Given the description of an element on the screen output the (x, y) to click on. 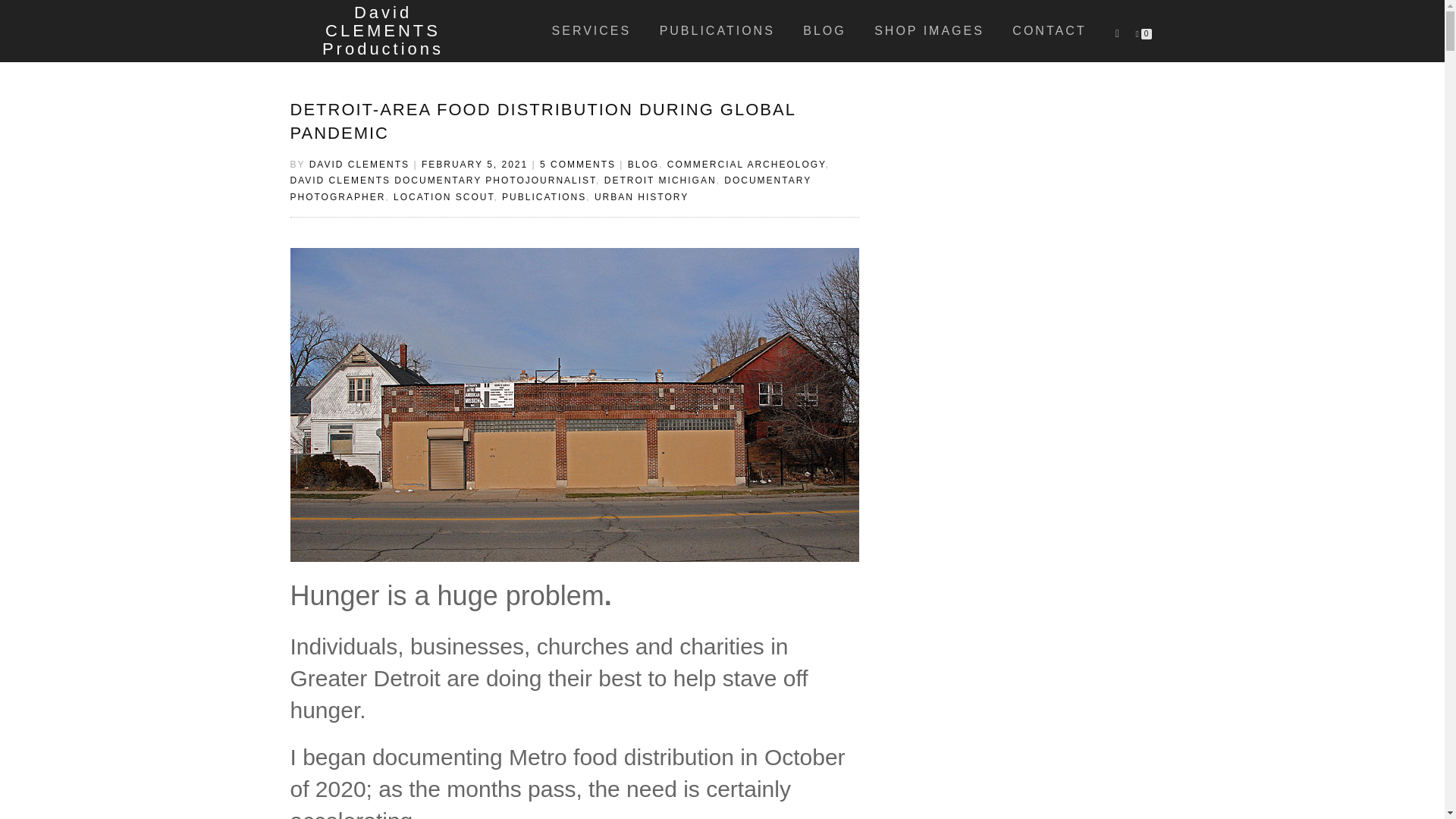
David CLEMENTS Productions (382, 31)
BLOG (643, 163)
View all posts in Detroit Michigan (660, 180)
SERVICES (591, 30)
View all posts in Blog (643, 163)
View all posts in Documentary Photographer (549, 188)
5 COMMENTS (577, 163)
View all posts in Publications (544, 196)
DETROIT MICHIGAN (660, 180)
View all posts in Commercial Archeology (745, 163)
